Given the description of an element on the screen output the (x, y) to click on. 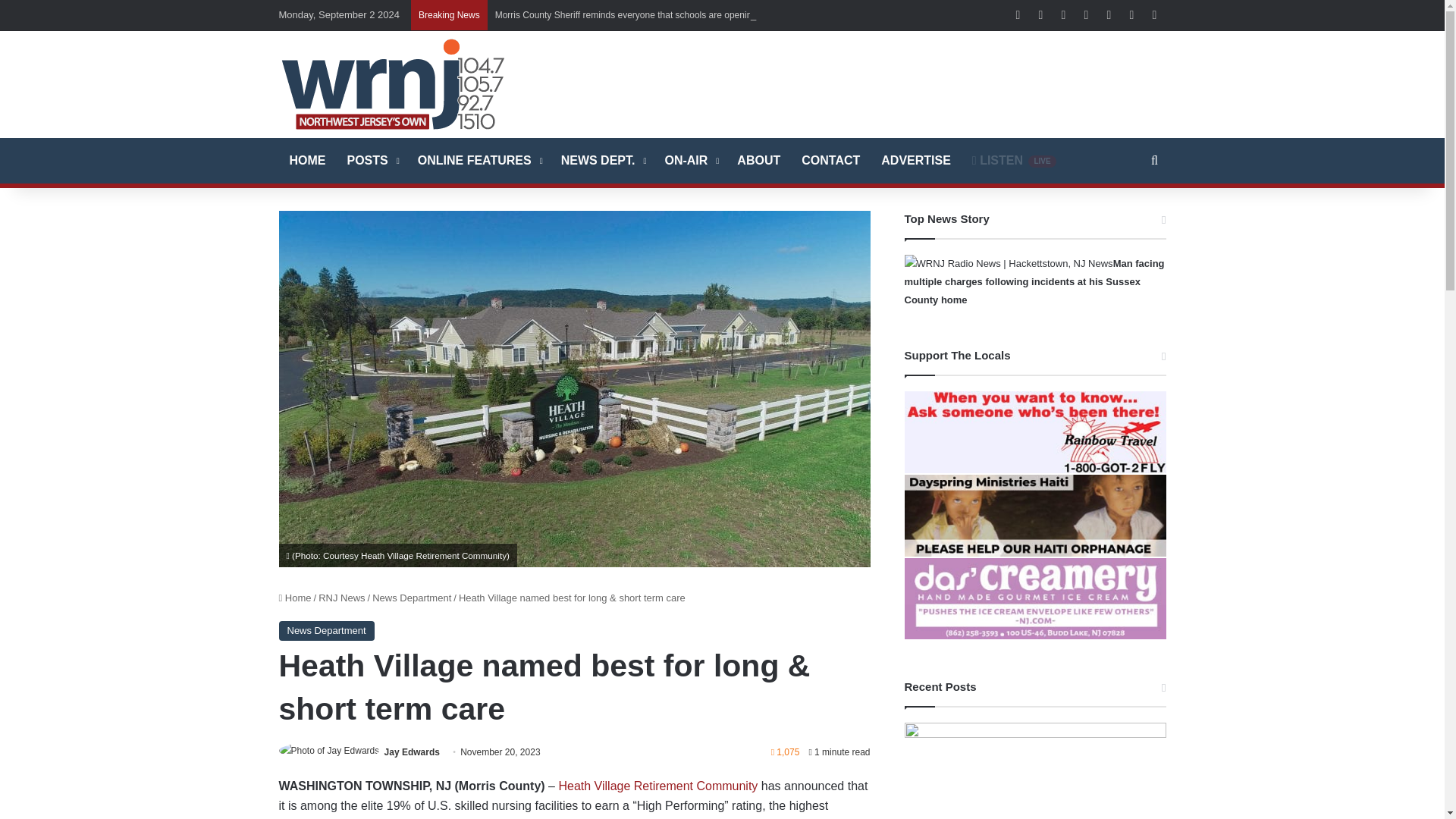
ON-AIR (689, 160)
NEWS DEPT. (601, 160)
ABOUT (758, 160)
WRNJ Radio (392, 83)
ADVERTISE (915, 160)
POSTS (371, 160)
Dayspring Ministries - Haiti (1035, 515)
HOME (307, 160)
CONTACT (830, 160)
Jay Edwards (411, 751)
